Given the description of an element on the screen output the (x, y) to click on. 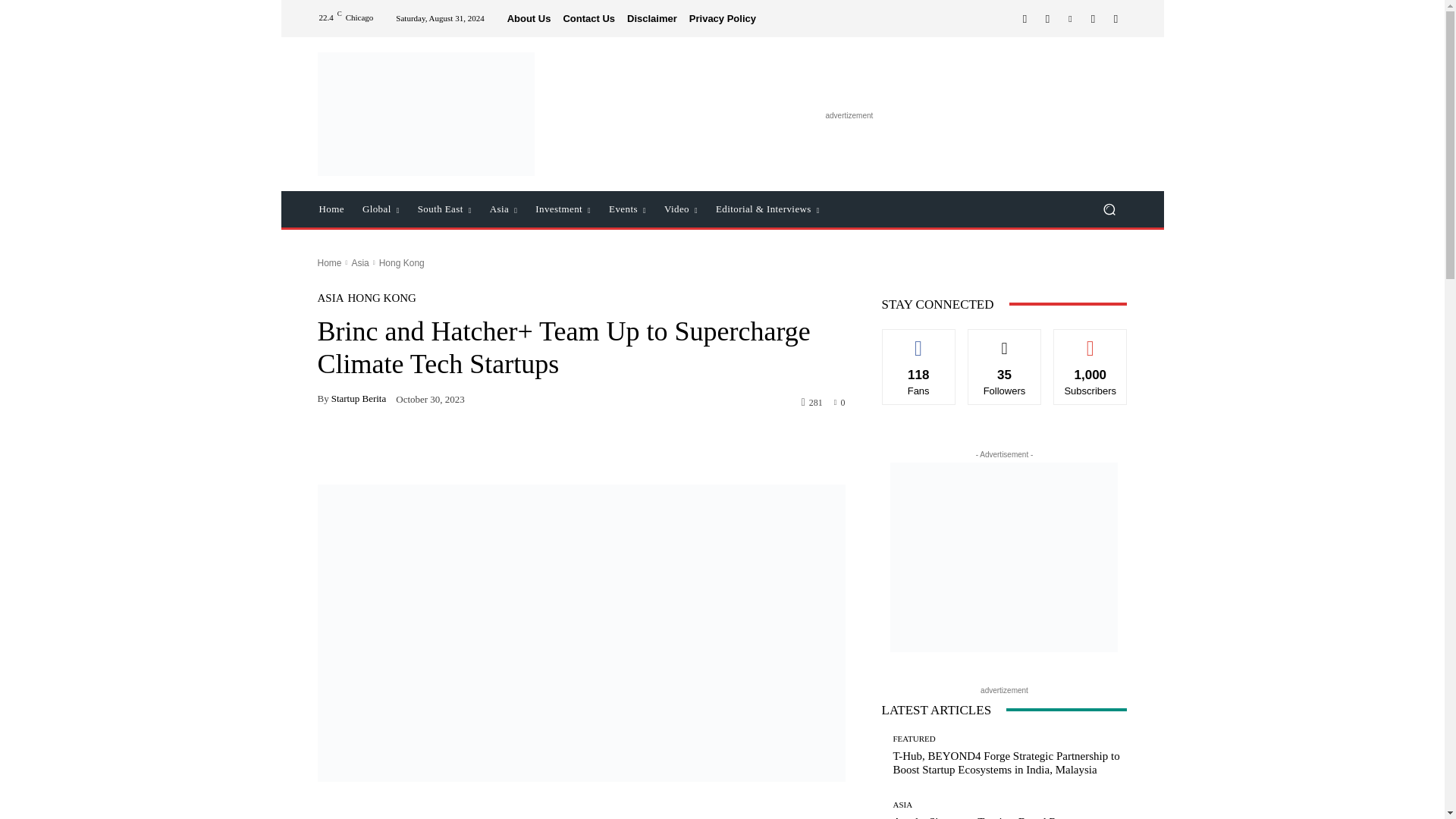
Contact Us (588, 18)
Twitter (1114, 18)
About Us (528, 18)
Disclaimer (652, 18)
Home (330, 208)
Privacy Policy (721, 18)
Instagram (1046, 18)
Linkedin (1069, 18)
Mail (1092, 18)
Global (381, 208)
